Given the description of an element on the screen output the (x, y) to click on. 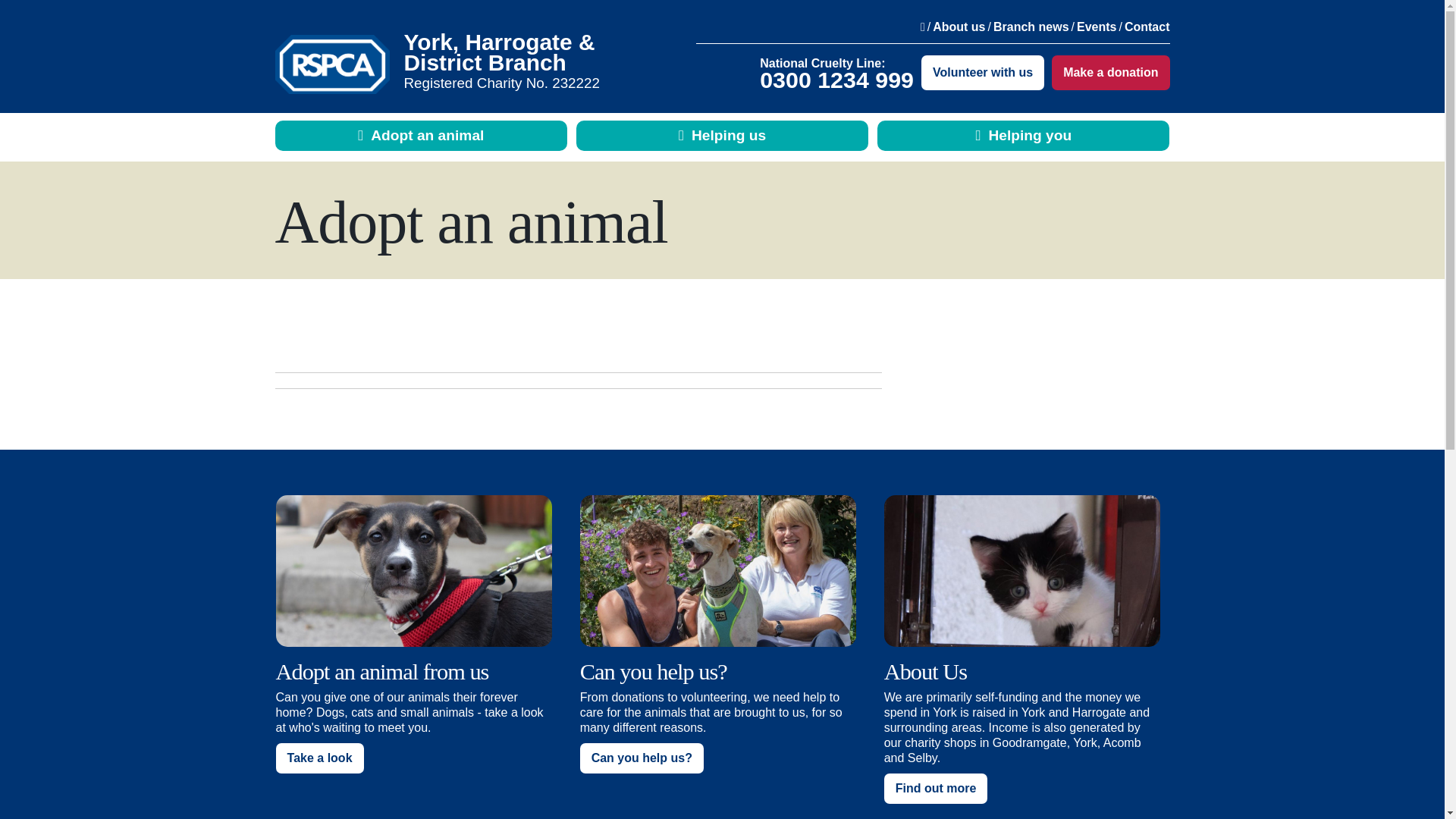
Volunteer with us (982, 72)
About us (959, 26)
Helping us (721, 135)
Branch news (1030, 26)
Adopt an animal (421, 135)
Make a donation (1110, 72)
0300 1234 999 (837, 79)
Contact (1147, 26)
Helping you (1023, 135)
Events (1096, 26)
